Given the description of an element on the screen output the (x, y) to click on. 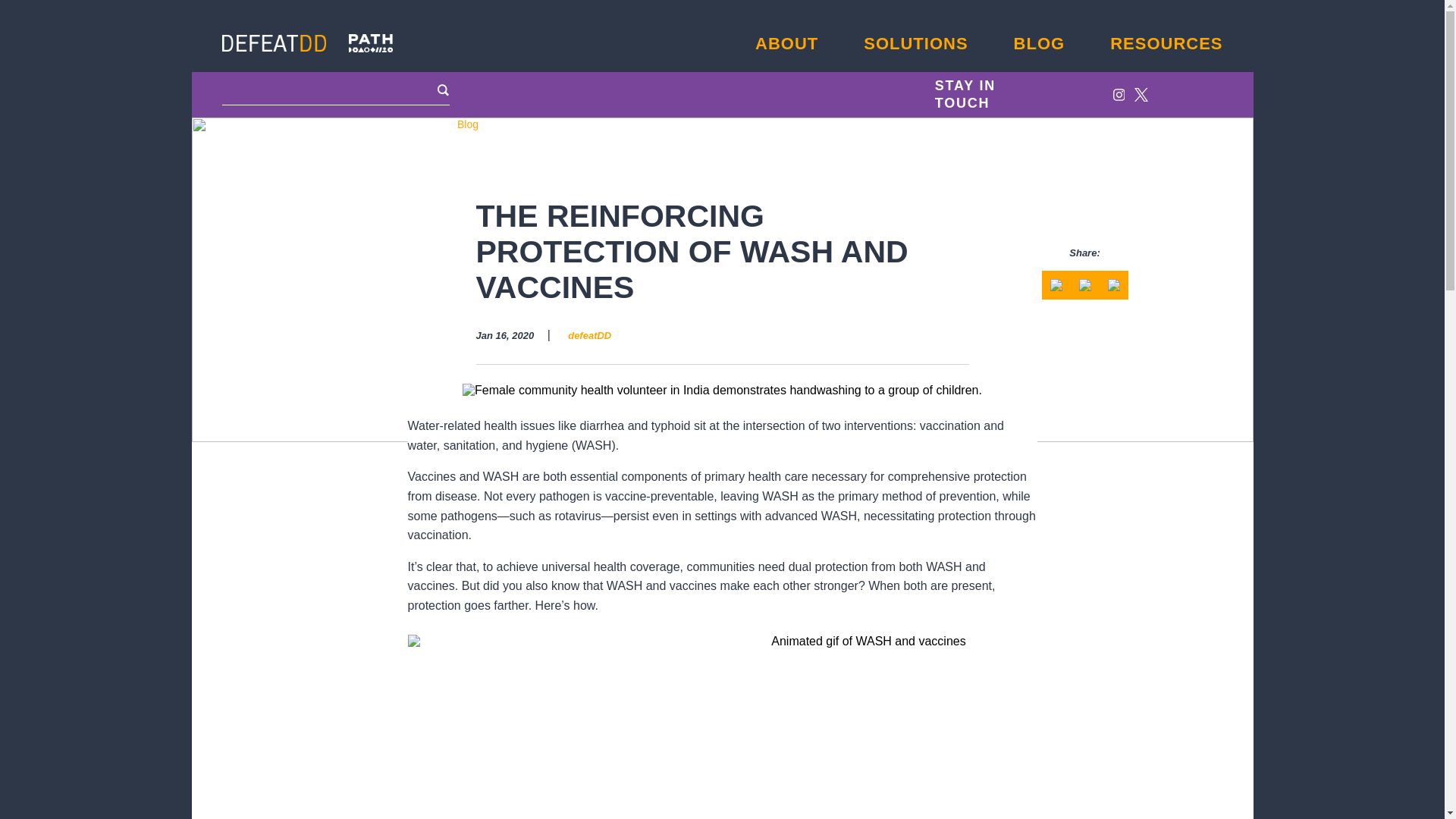
STAY IN TOUCH (991, 93)
Blog (468, 123)
ABOUT (786, 43)
Home (430, 123)
SOLUTIONS (915, 43)
BLOG (1039, 43)
defeatDD (589, 335)
Enter the terms you wish to search for. (336, 90)
RESOURCES (1166, 43)
